Given the description of an element on the screen output the (x, y) to click on. 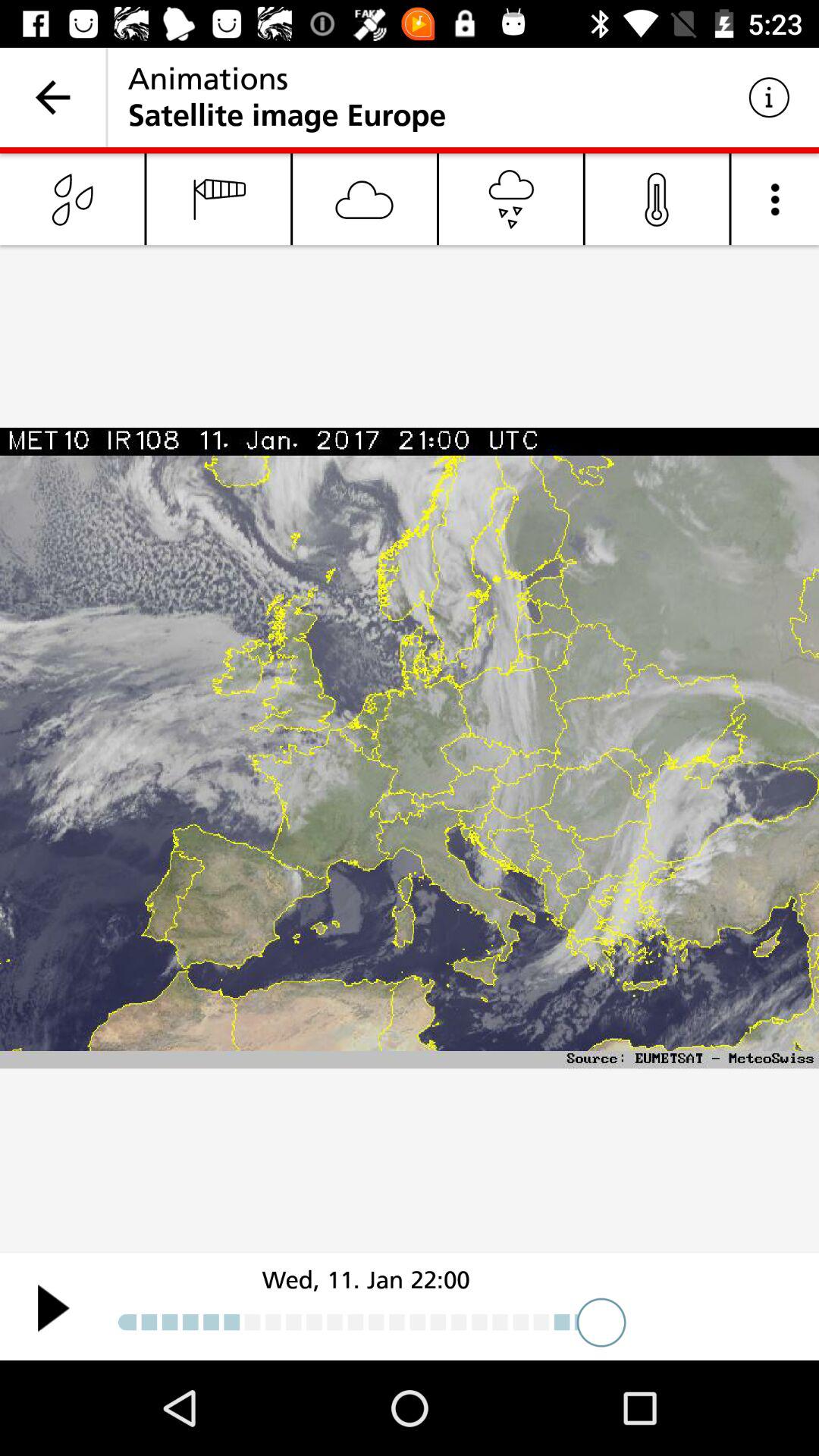
launch item to the right of animations (769, 97)
